Given the description of an element on the screen output the (x, y) to click on. 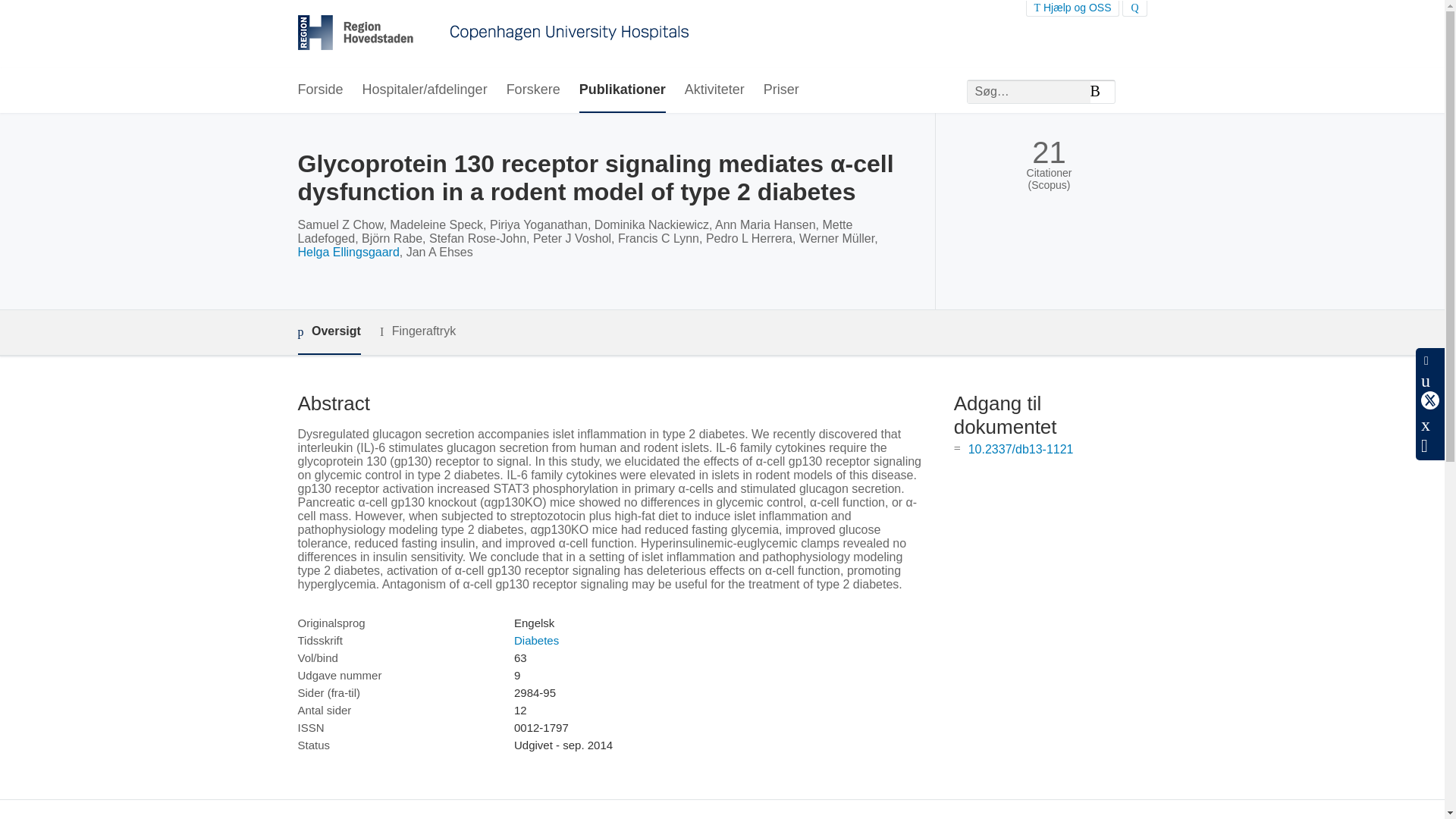
Aktiviteter (714, 90)
Fingeraftryk (417, 331)
Forskere (533, 90)
Region Hovedstadens forskningsportal Forside (492, 34)
Publikationer (622, 90)
Diabetes (536, 640)
Oversigt (328, 332)
Forside (319, 90)
Helga Ellingsgaard (347, 251)
